Given the description of an element on the screen output the (x, y) to click on. 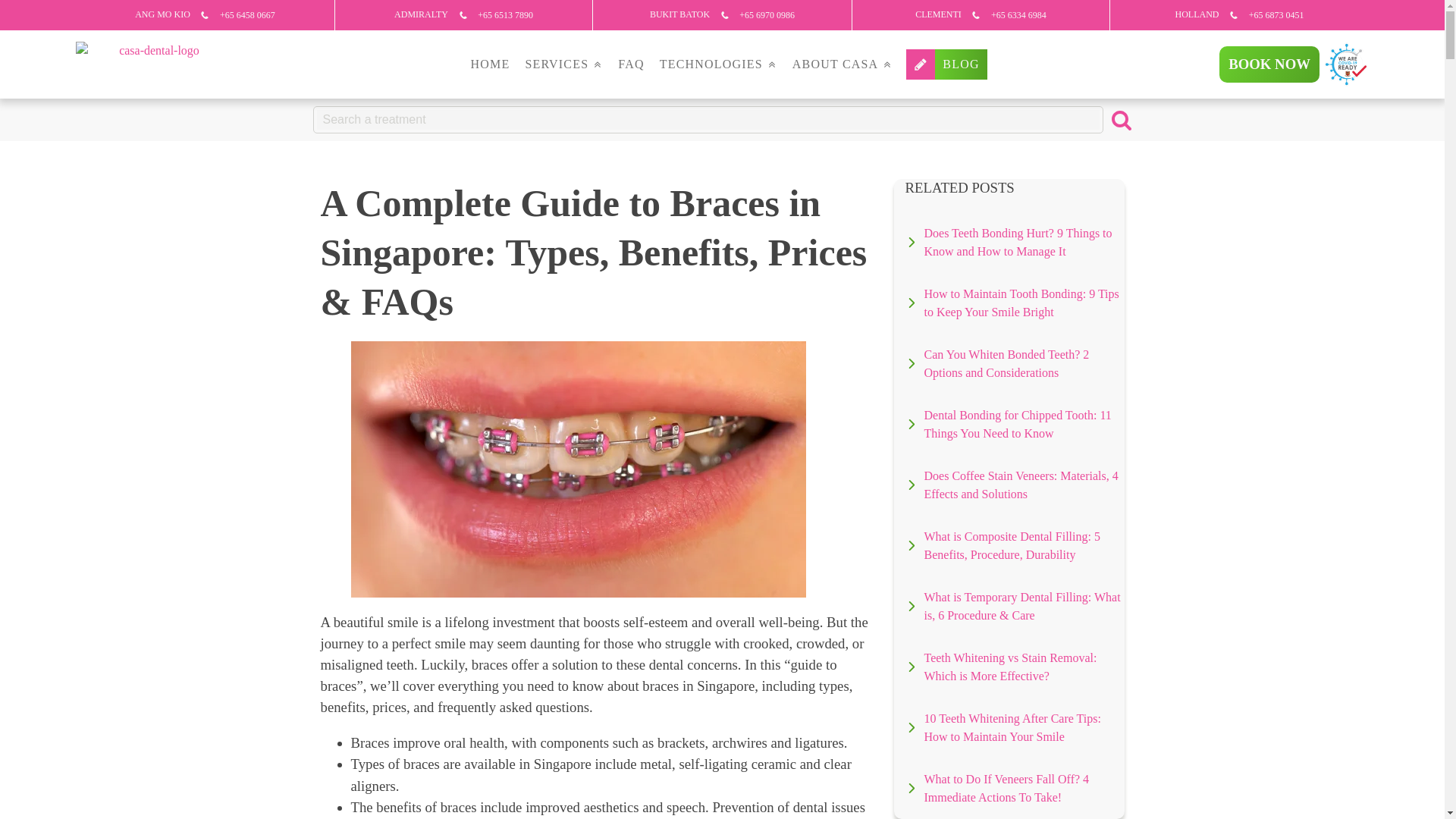
ABOUT CASA (842, 64)
HOME (489, 64)
SERVICES (563, 64)
FAQ (630, 64)
TECHNOLOGIES (718, 64)
